Given the description of an element on the screen output the (x, y) to click on. 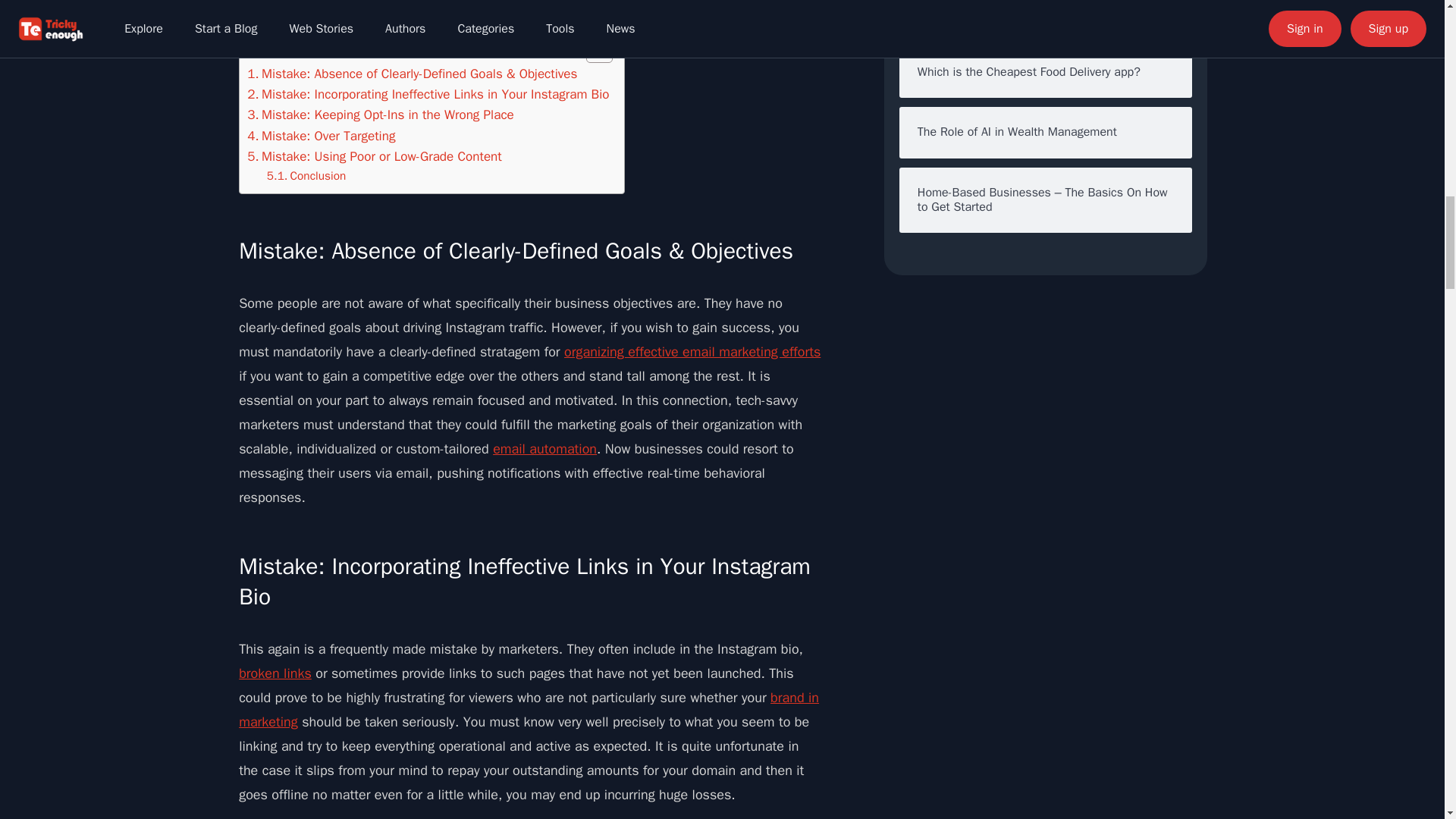
Mistake: Using Poor or Low-Grade Content (374, 156)
Mistake: Over Targeting (320, 136)
Mistake: Over Targeting (320, 136)
Conclusion (306, 176)
Mistake: Keeping Opt-Ins in the Wrong Place (380, 114)
organizing effective email marketing efforts (692, 351)
Conclusion (306, 176)
Mistake: Keeping Opt-Ins in the Wrong Place (380, 114)
email automation (544, 448)
